Given the description of an element on the screen output the (x, y) to click on. 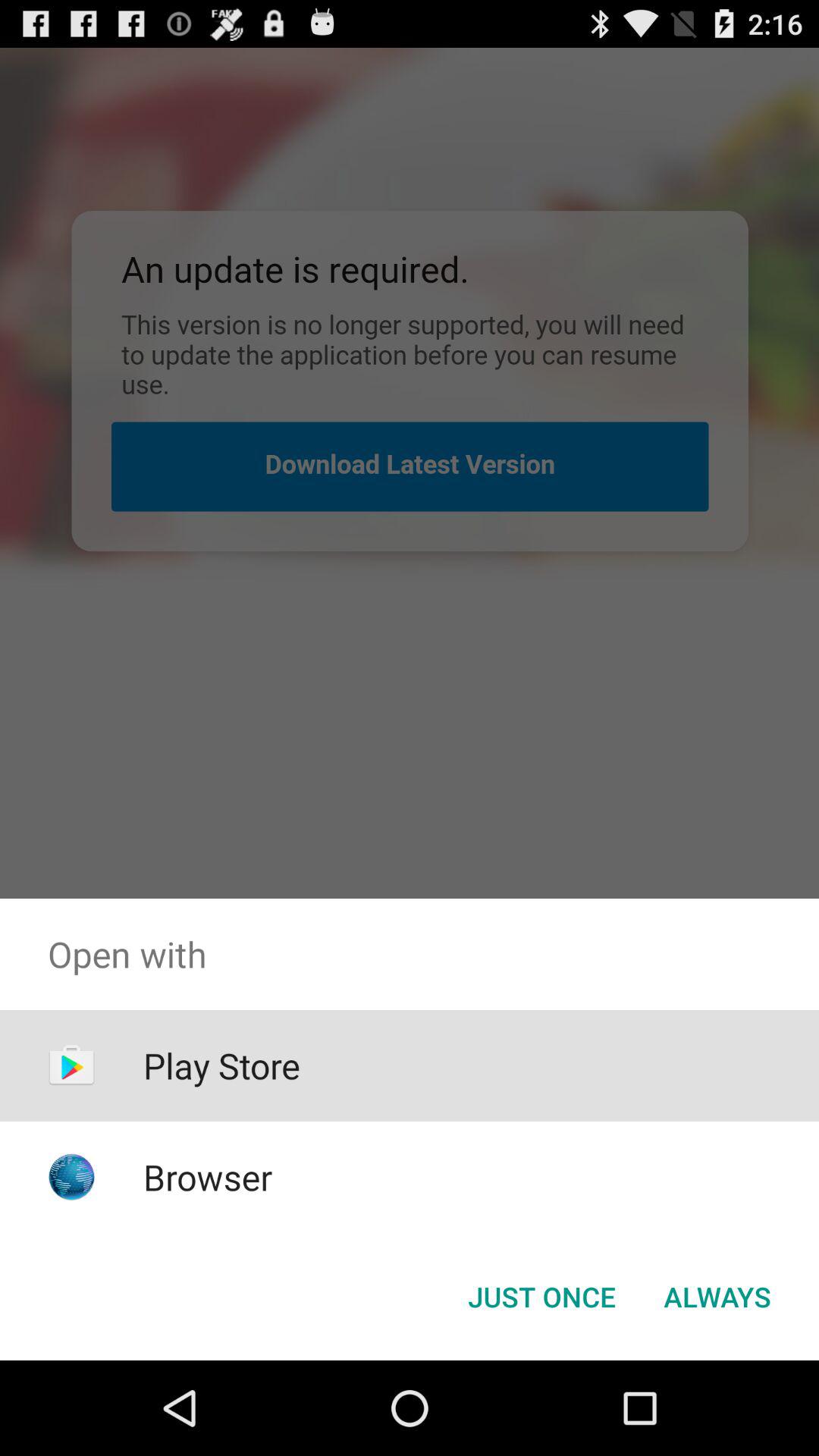
swipe to the always icon (717, 1296)
